Given the description of an element on the screen output the (x, y) to click on. 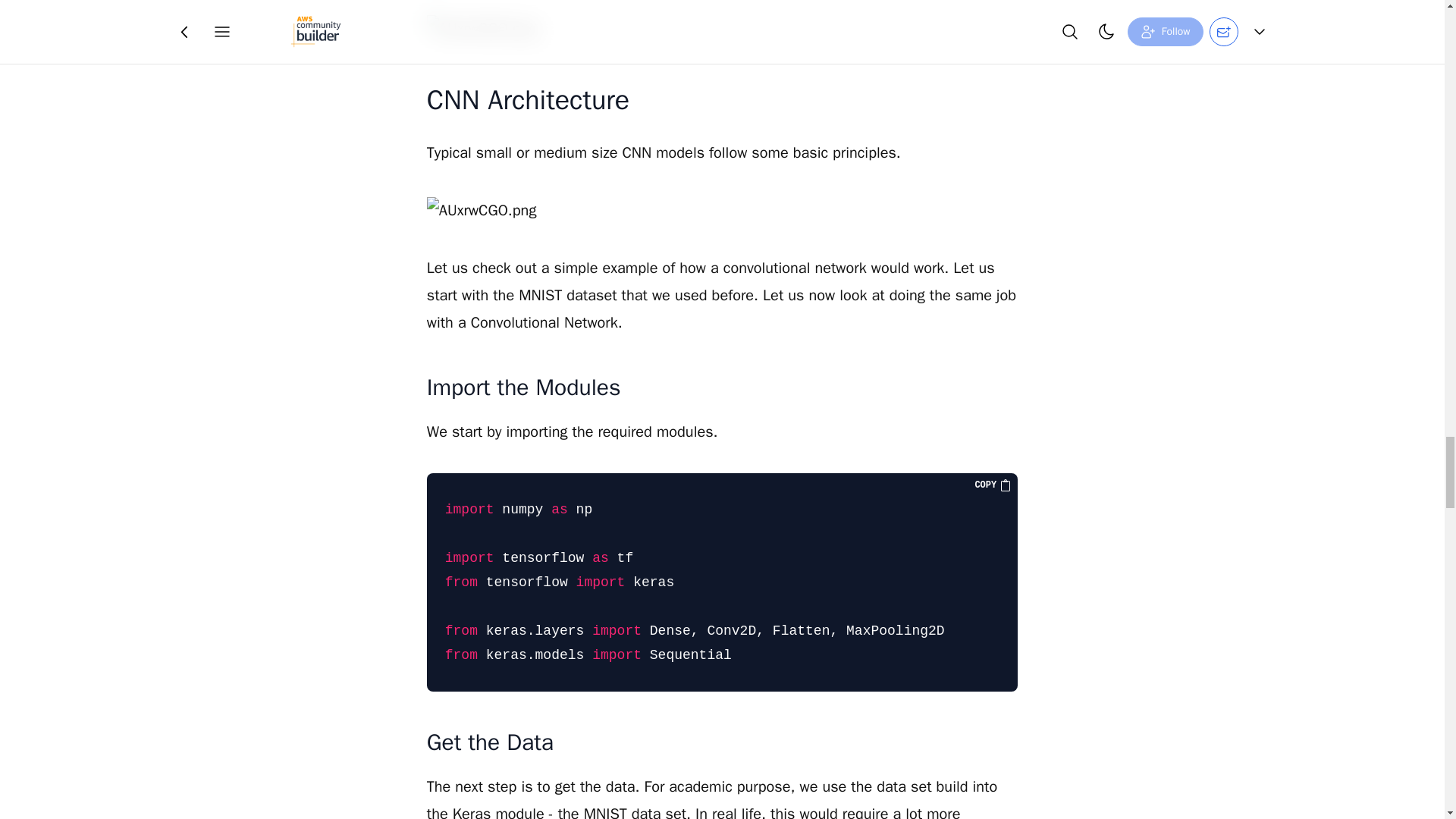
COPY (992, 485)
